Given the description of an element on the screen output the (x, y) to click on. 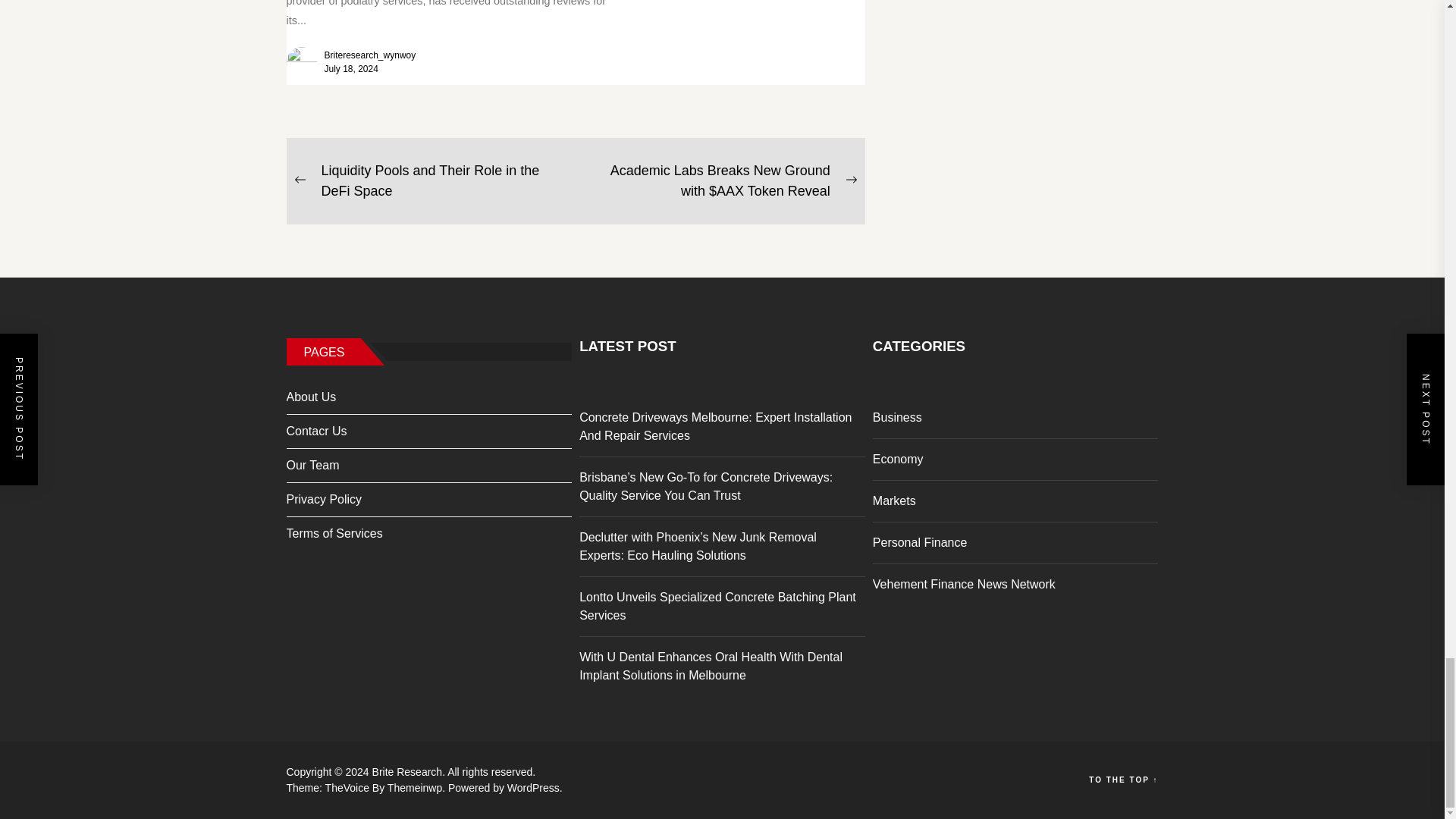
Themeinwp (417, 787)
Brite Research (410, 771)
WordPress (534, 787)
